Given the description of an element on the screen output the (x, y) to click on. 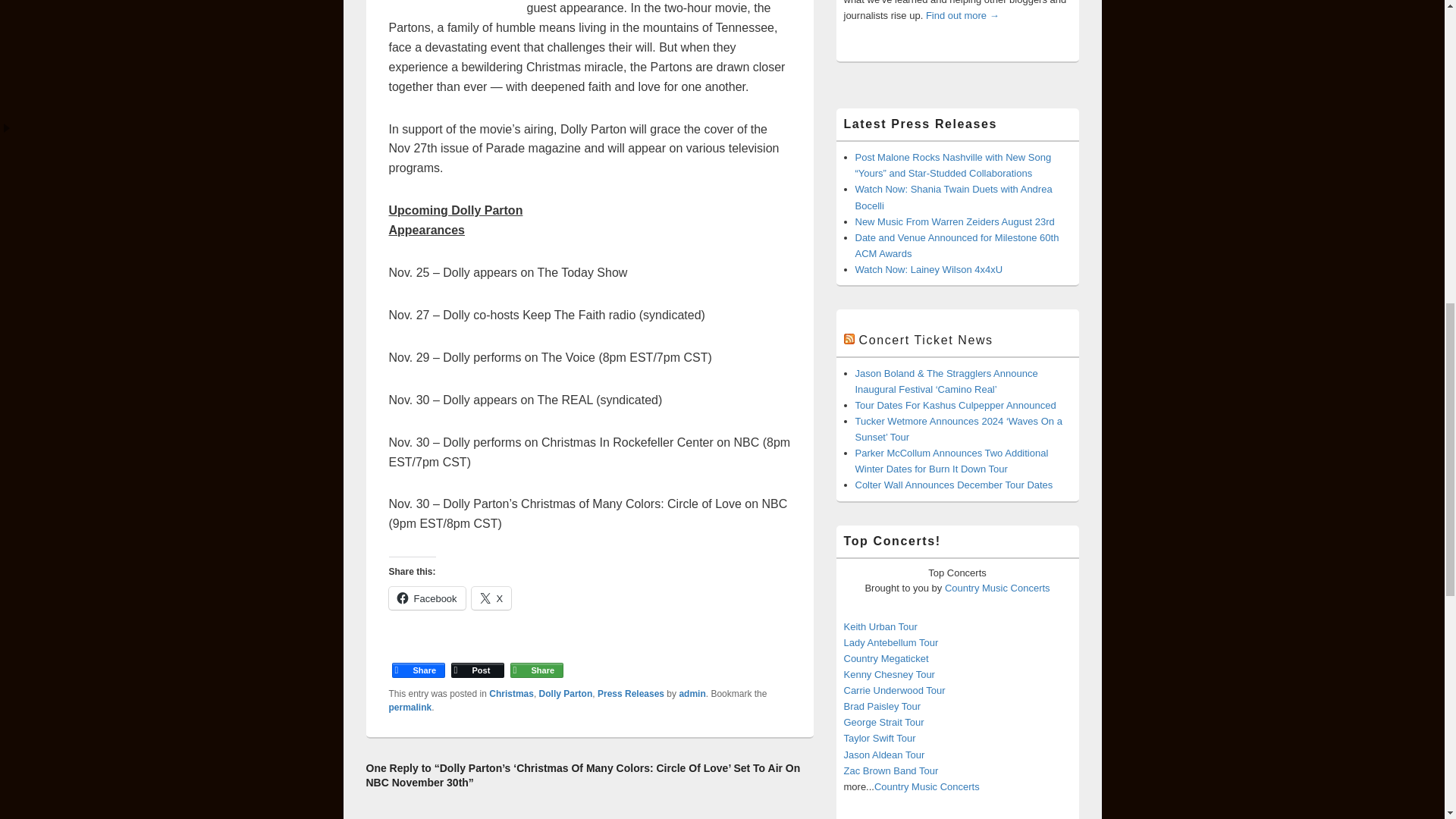
Facebook (426, 598)
Watch Now: Lainey Wilson 4x4xU (929, 269)
Press Releases (629, 693)
Watch Now: Shania Twain Duets with Andrea Bocelli (954, 196)
Facebook (417, 656)
Click to share on Facebook (426, 598)
Christmas (511, 693)
New Music From Warren Zeiders August 23rd (955, 221)
admin (691, 693)
permalink (409, 706)
More Options (536, 656)
Country Music Concerts (996, 587)
Dolly Parton (565, 693)
Concert Ticket News (925, 339)
Click to share on X (491, 598)
